Given the description of an element on the screen output the (x, y) to click on. 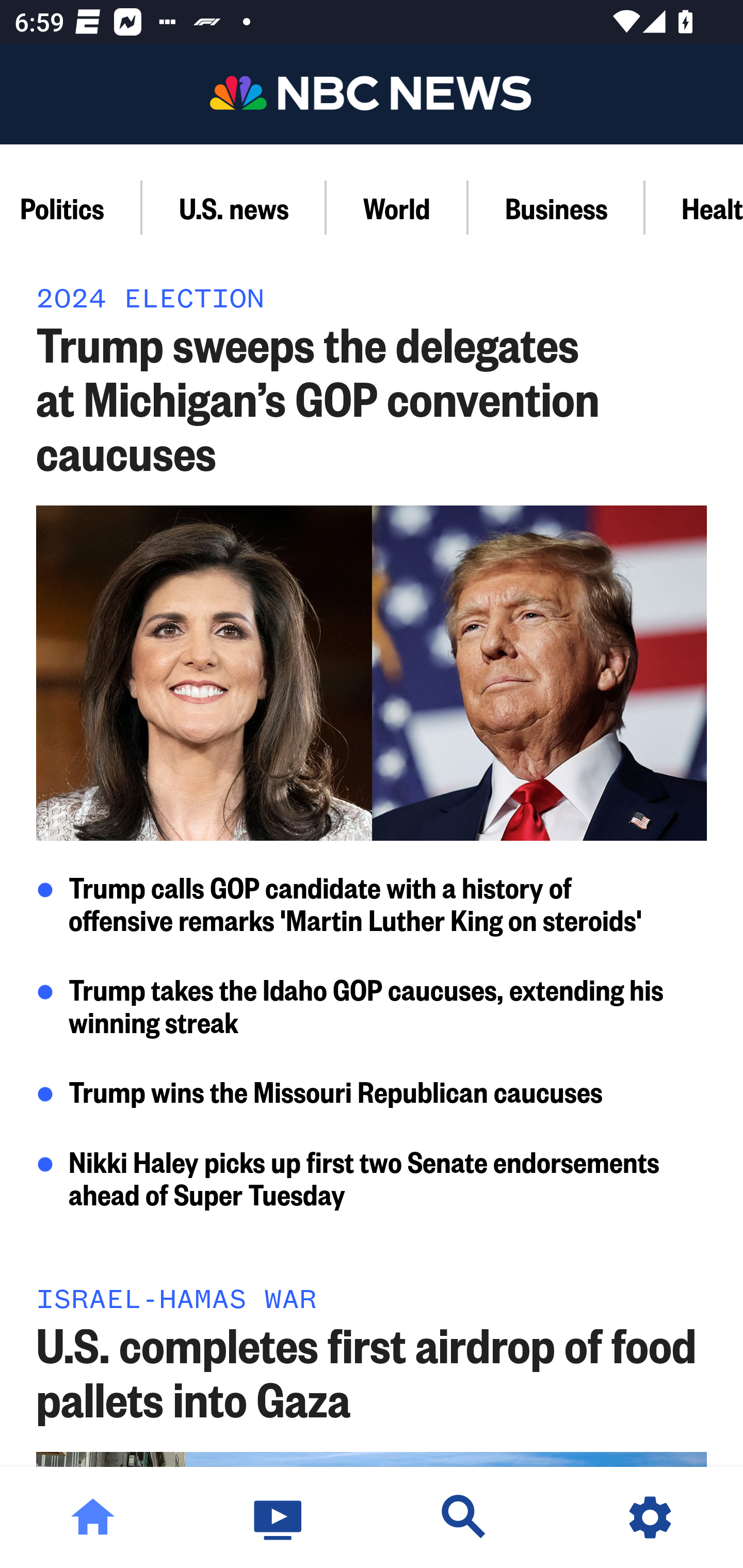
Politics Section,Politics (71, 207)
U.S. news Section,U.S. news (234, 207)
World Section,World (397, 207)
Business Section,Business (556, 207)
Watch (278, 1517)
Discover (464, 1517)
Settings (650, 1517)
